Given the description of an element on the screen output the (x, y) to click on. 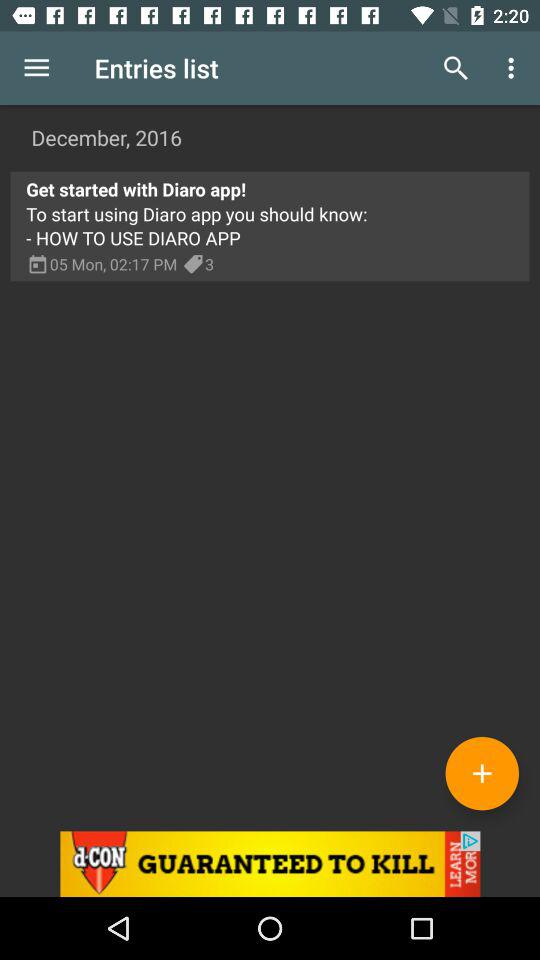
close advertisement (270, 864)
